Given the description of an element on the screen output the (x, y) to click on. 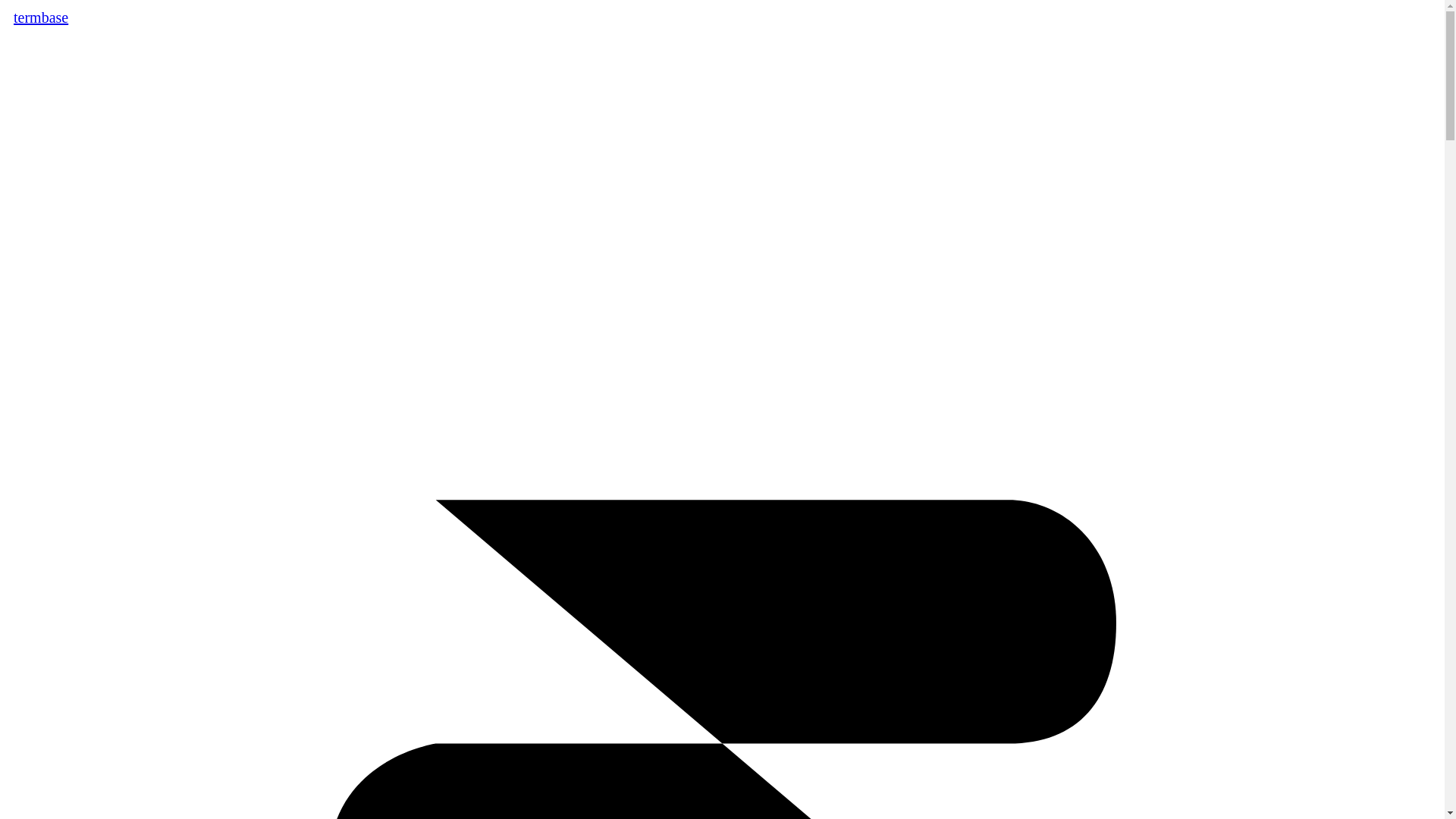
termbase (40, 17)
